Given the description of an element on the screen output the (x, y) to click on. 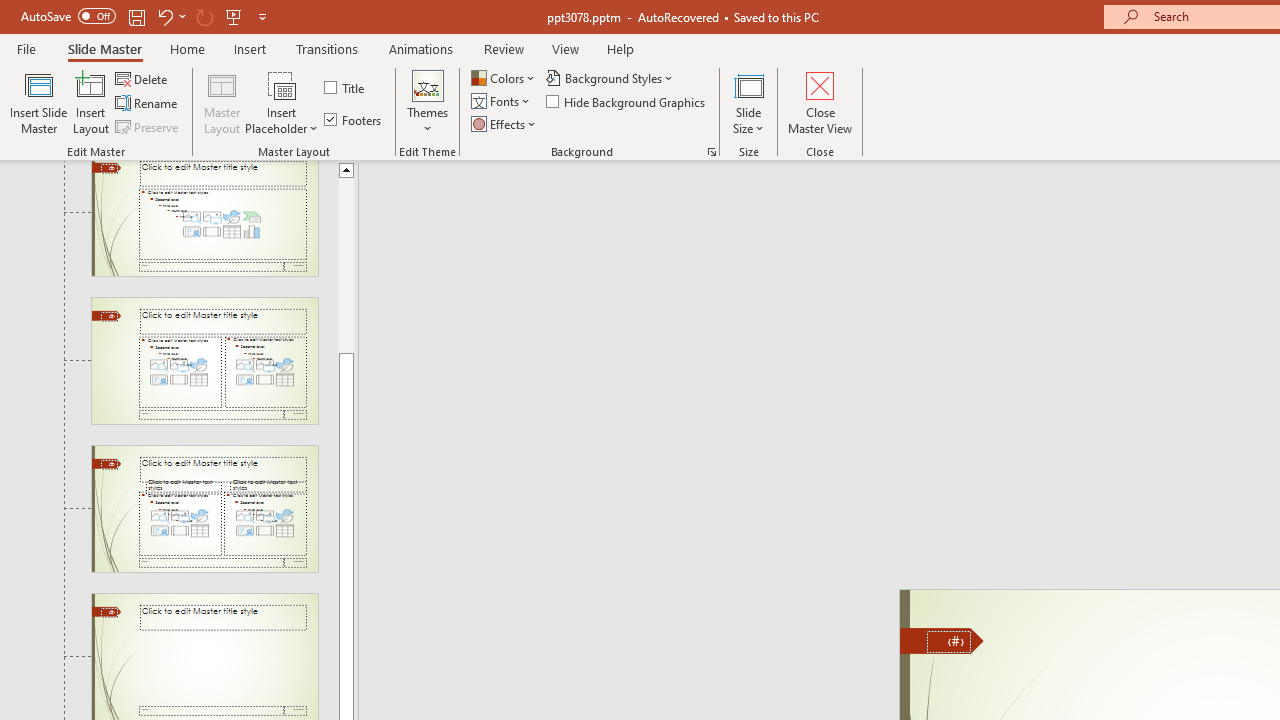
More Options (282, 121)
Undo (170, 15)
Slide Size (749, 102)
System (10, 11)
Title (346, 87)
Fonts (502, 101)
Master Layout... (221, 102)
Transitions (326, 48)
Insert Slide Master (38, 102)
Slide Comparison Layout: used by no slides (204, 508)
Quick Access Toolbar (145, 16)
Help (620, 48)
AutoSave (68, 16)
Hide Background Graphics (626, 101)
